Given the description of an element on the screen output the (x, y) to click on. 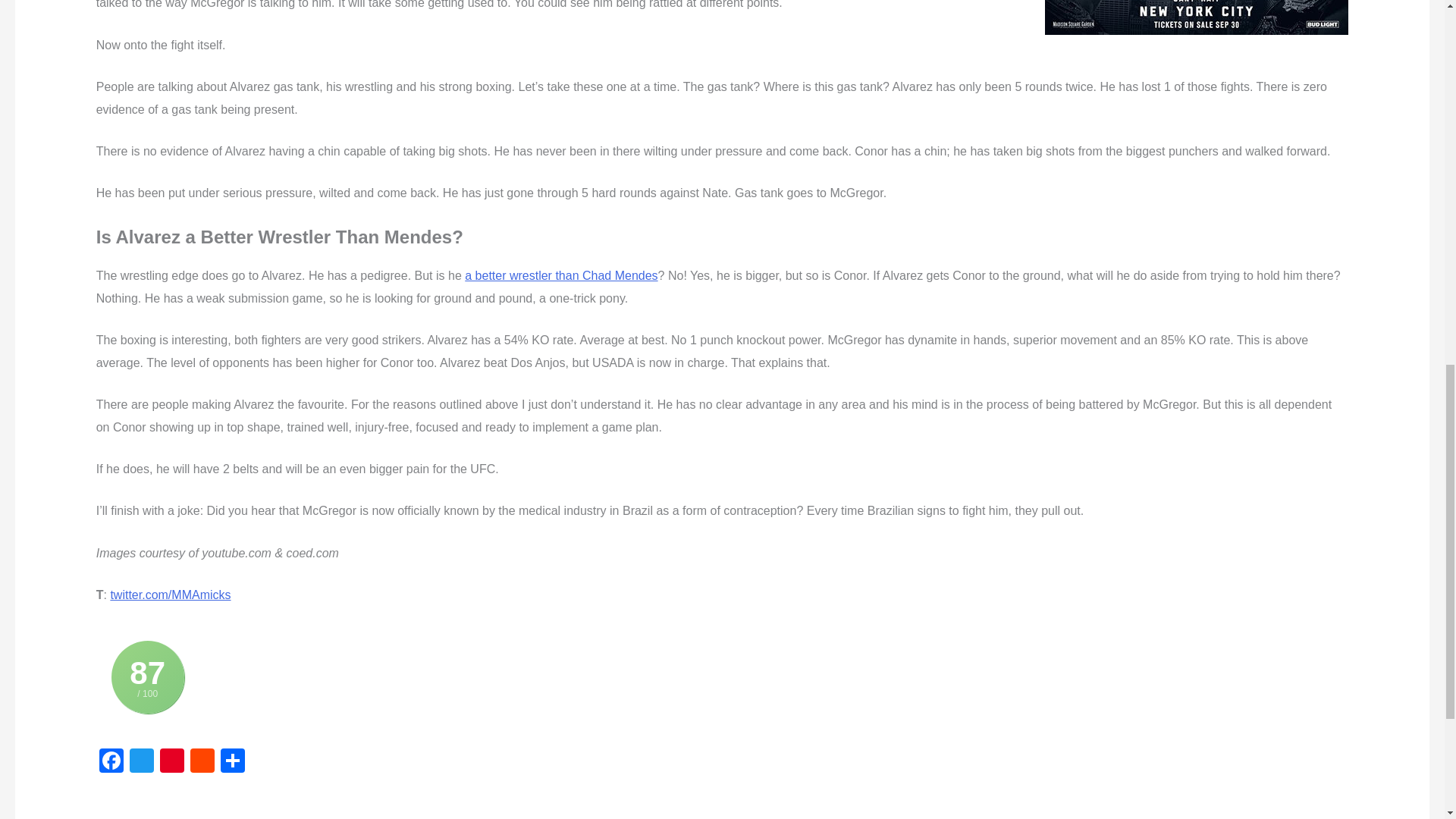
Reddit (201, 762)
Share (231, 762)
Facebook (111, 762)
Ufc 205 Eddie Alvarez Vs Conor Mcgregor Press Conference. (1196, 17)
a better wrestler than Chad Mendes (561, 275)
Reddit (201, 762)
Twitter (141, 762)
Pinterest (172, 762)
Pinterest (172, 762)
Facebook (111, 762)
